Given the description of an element on the screen output the (x, y) to click on. 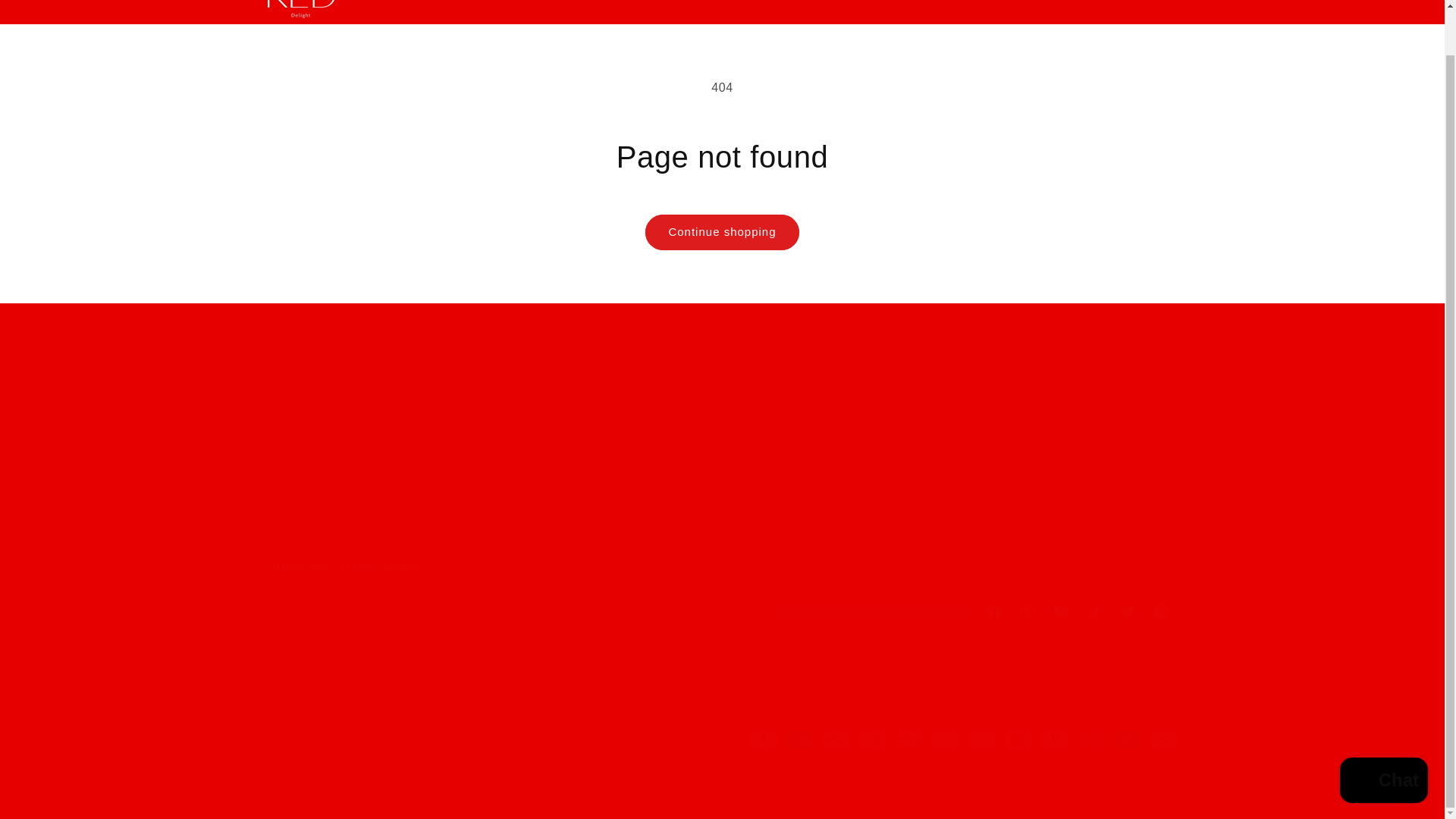
Wholesale (791, 2)
Contact (726, 2)
Store Finder (542, 2)
Shopify online store chat (1383, 734)
About (673, 2)
English (1045, 1)
RED Delight Chocolate - All Pleasure, No Guilt! (1072, 456)
